Given the description of an element on the screen output the (x, y) to click on. 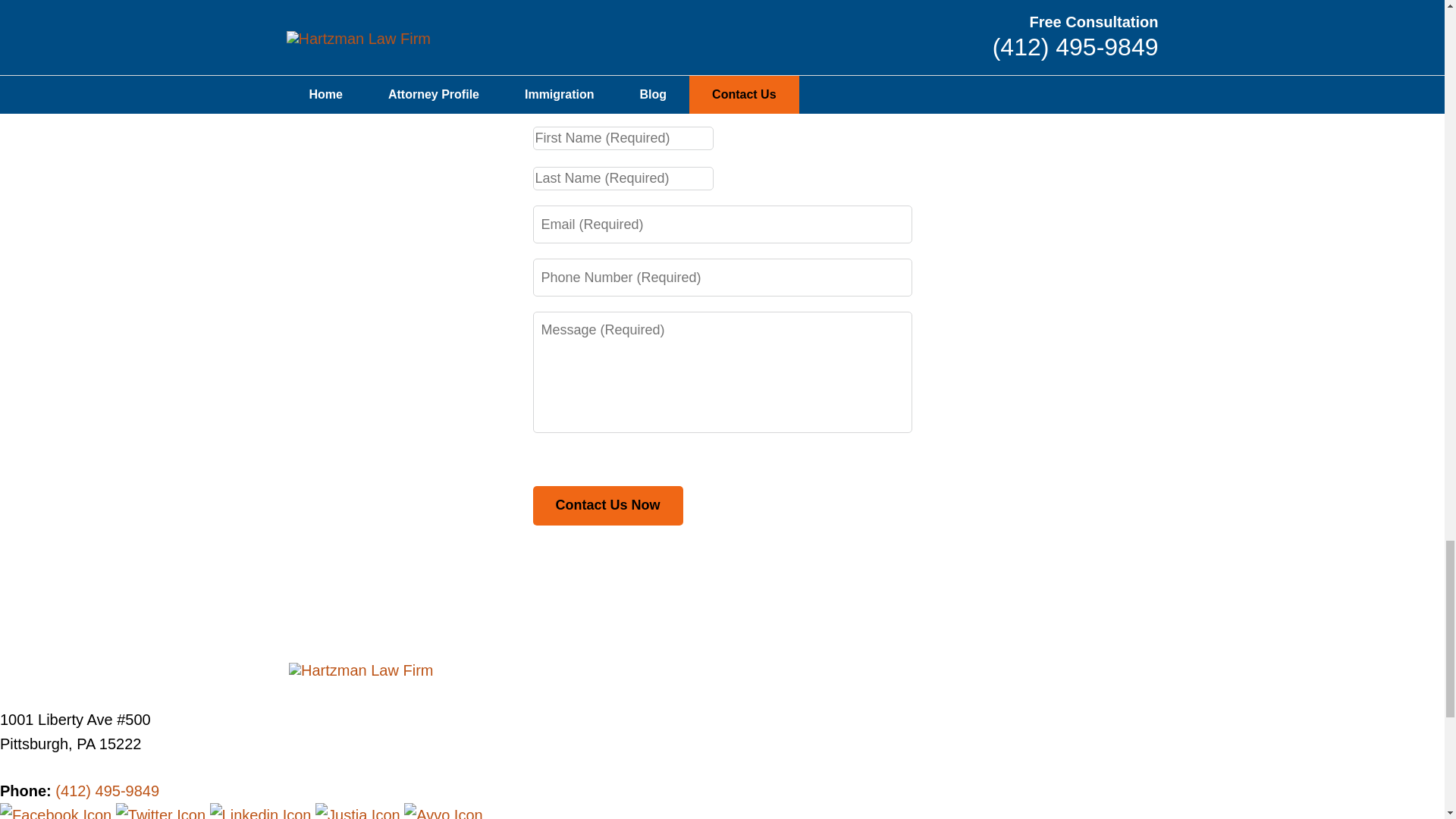
Facebook (58, 812)
Justia (359, 812)
Linkedin (262, 812)
Contact Us Now (607, 505)
Avvo (442, 812)
Twitter (162, 812)
